Given the description of an element on the screen output the (x, y) to click on. 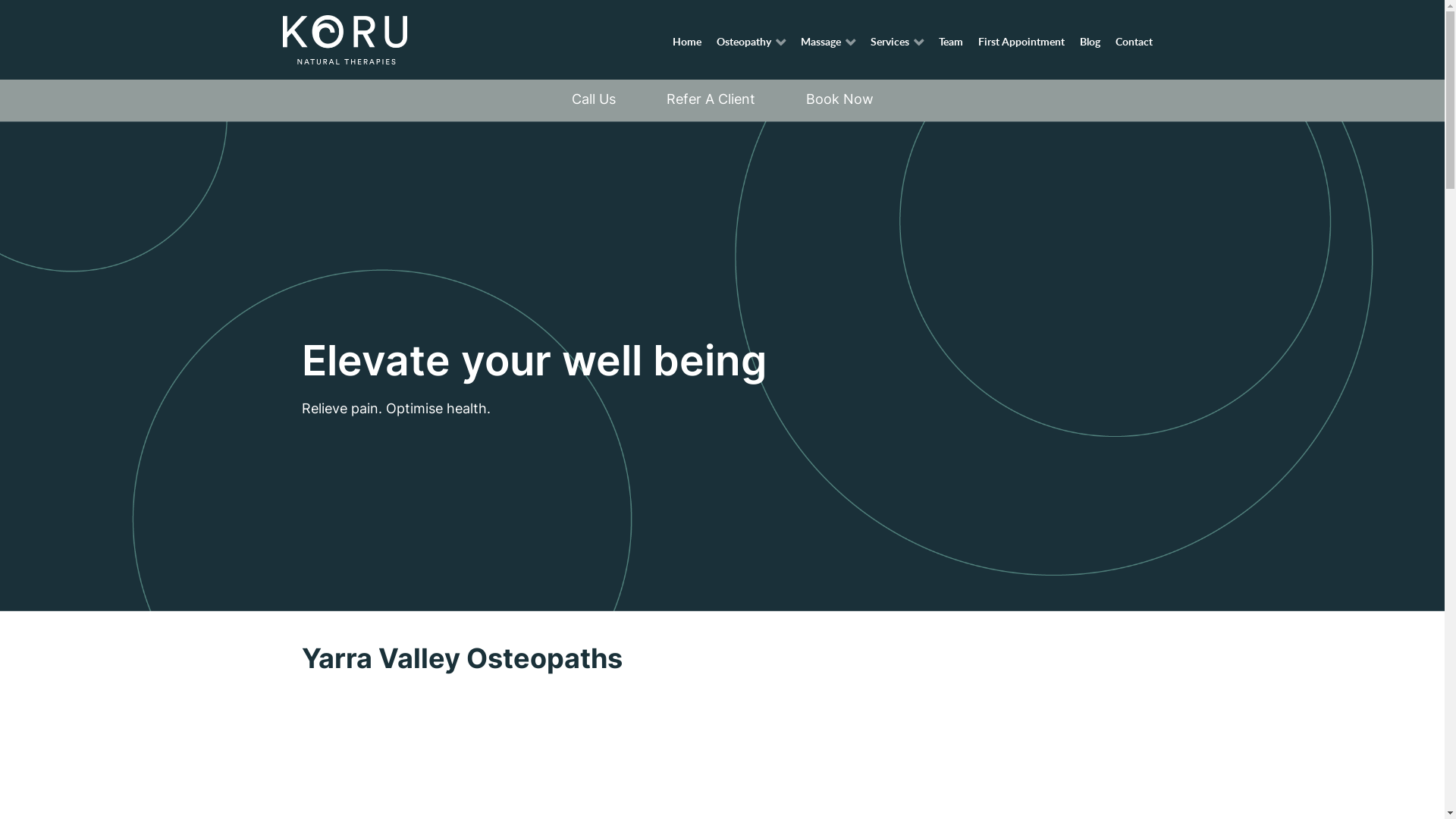
Osteopathy Element type: text (751, 40)
Osteopath,, Massage Therapy Element type: hover (722, 366)
Massage Element type: text (827, 40)
Home Element type: text (687, 40)
First Appointment Element type: text (1021, 40)
Call Us Element type: text (593, 99)
Blog Element type: text (1089, 40)
Refer A Client Element type: text (709, 99)
Contact Element type: text (1134, 40)
Book Now Element type: text (838, 99)
osteopathy natural therapies Element type: hover (343, 39)
Services Element type: text (896, 40)
Team Element type: text (950, 40)
